Given the description of an element on the screen output the (x, y) to click on. 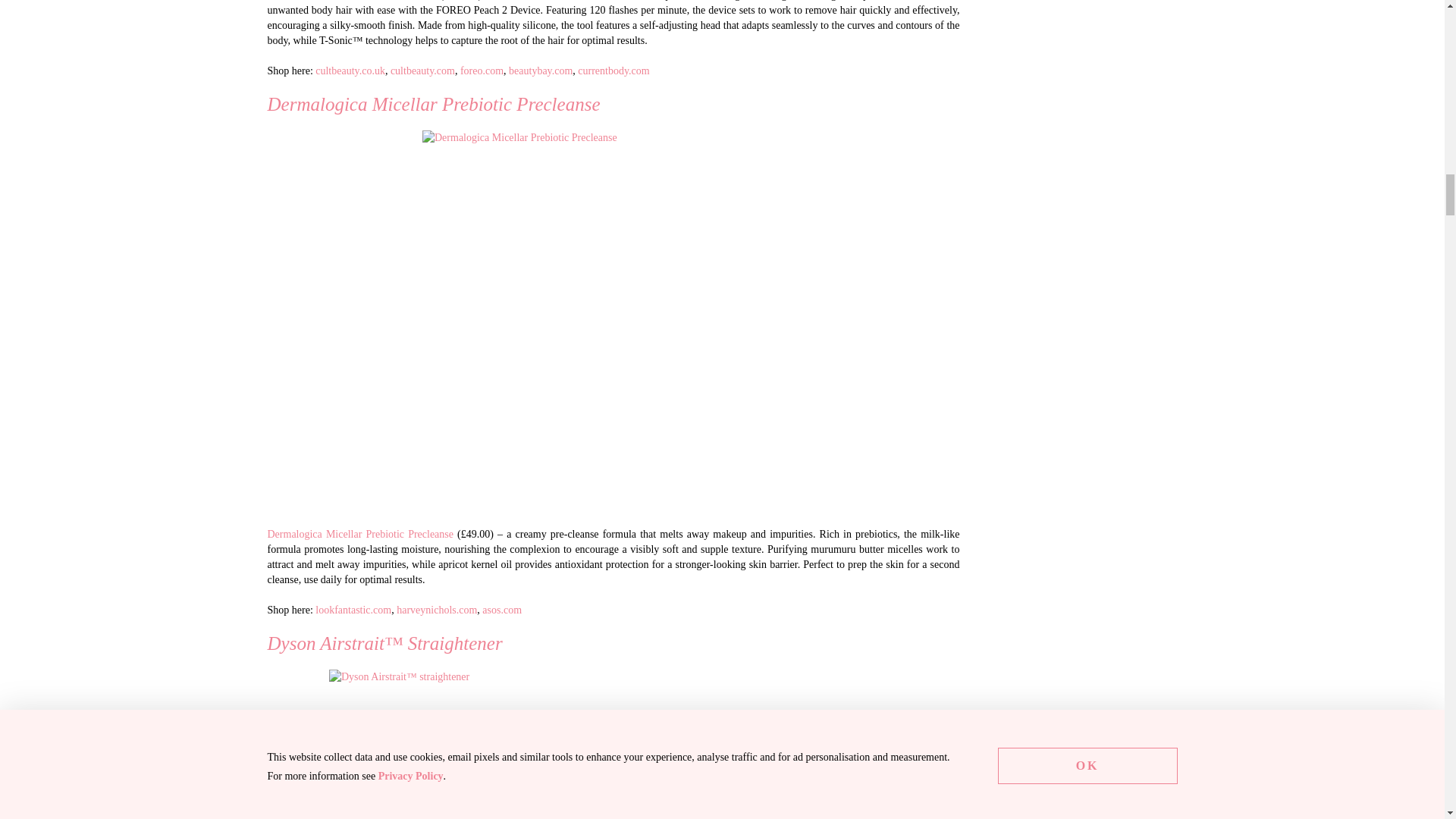
cultbeauty.co.uk (350, 70)
cultbeauty.com (422, 70)
